Given the description of an element on the screen output the (x, y) to click on. 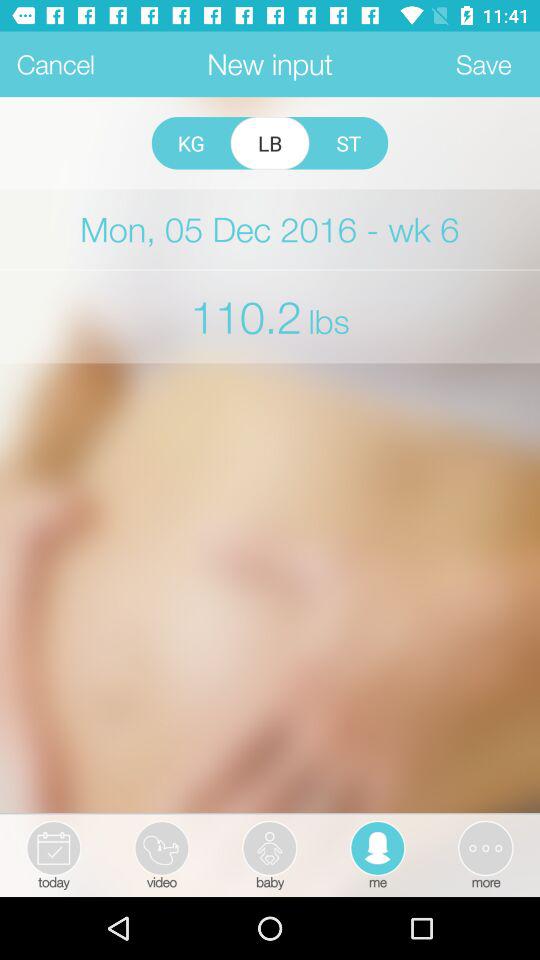
open icon to the left of the st radio button (269, 143)
